Given the description of an element on the screen output the (x, y) to click on. 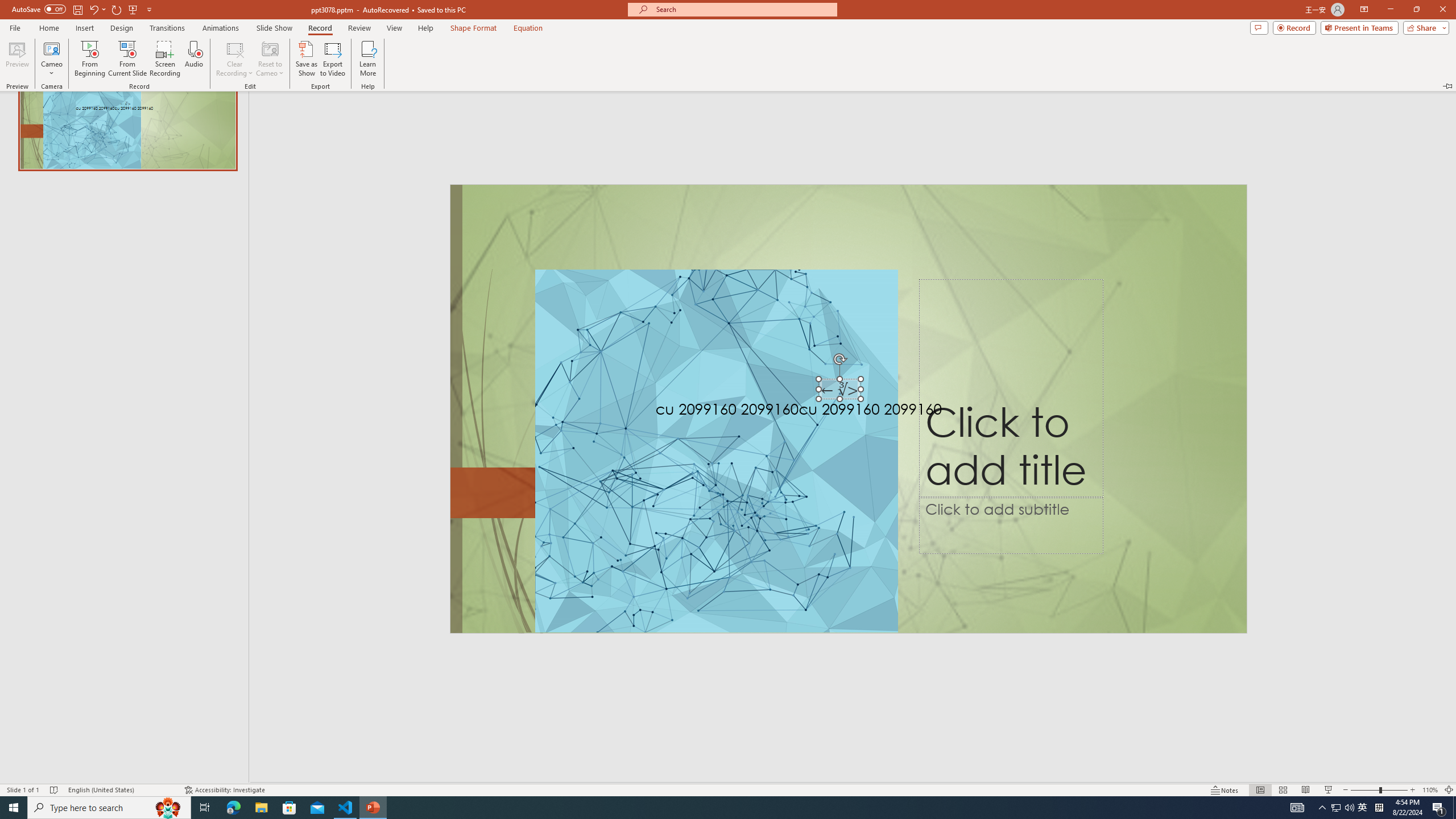
AutomationID: 4105 (1297, 807)
File Explorer (261, 807)
Start (13, 807)
Notification Chevron (1322, 807)
Class: MsoCommandBar (728, 789)
